Given the description of an element on the screen output the (x, y) to click on. 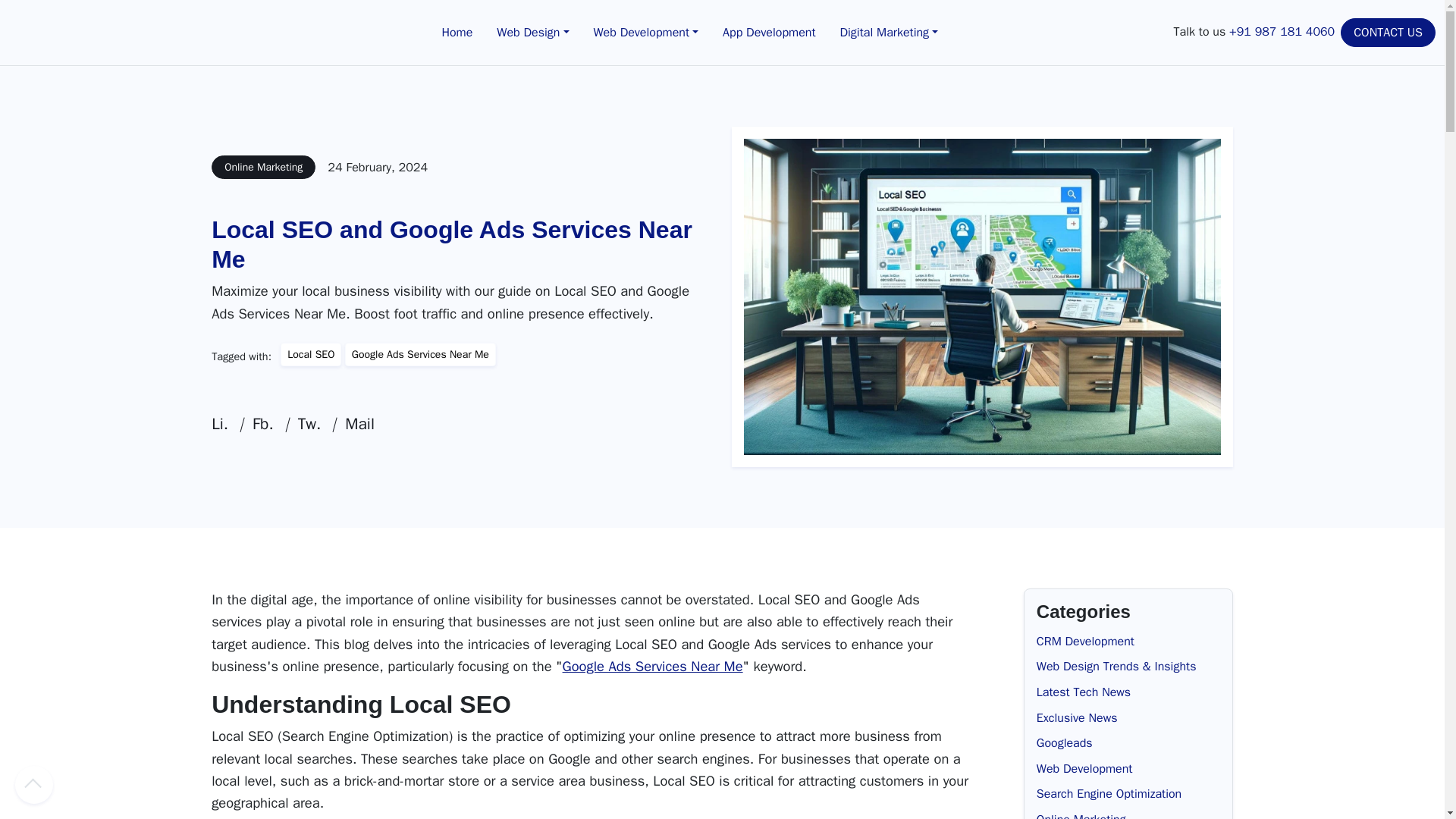
App Development (768, 32)
CONTACT US (1387, 32)
Fb. (256, 424)
Online Marketing (263, 167)
Web Design (532, 32)
Local SEO (310, 354)
Digital Marketing (888, 32)
Web Development (645, 32)
Mail (353, 424)
Google Ads Services Near Me (420, 354)
Google Ads Services Near Me (652, 665)
Tw. (303, 424)
